Given the description of an element on the screen output the (x, y) to click on. 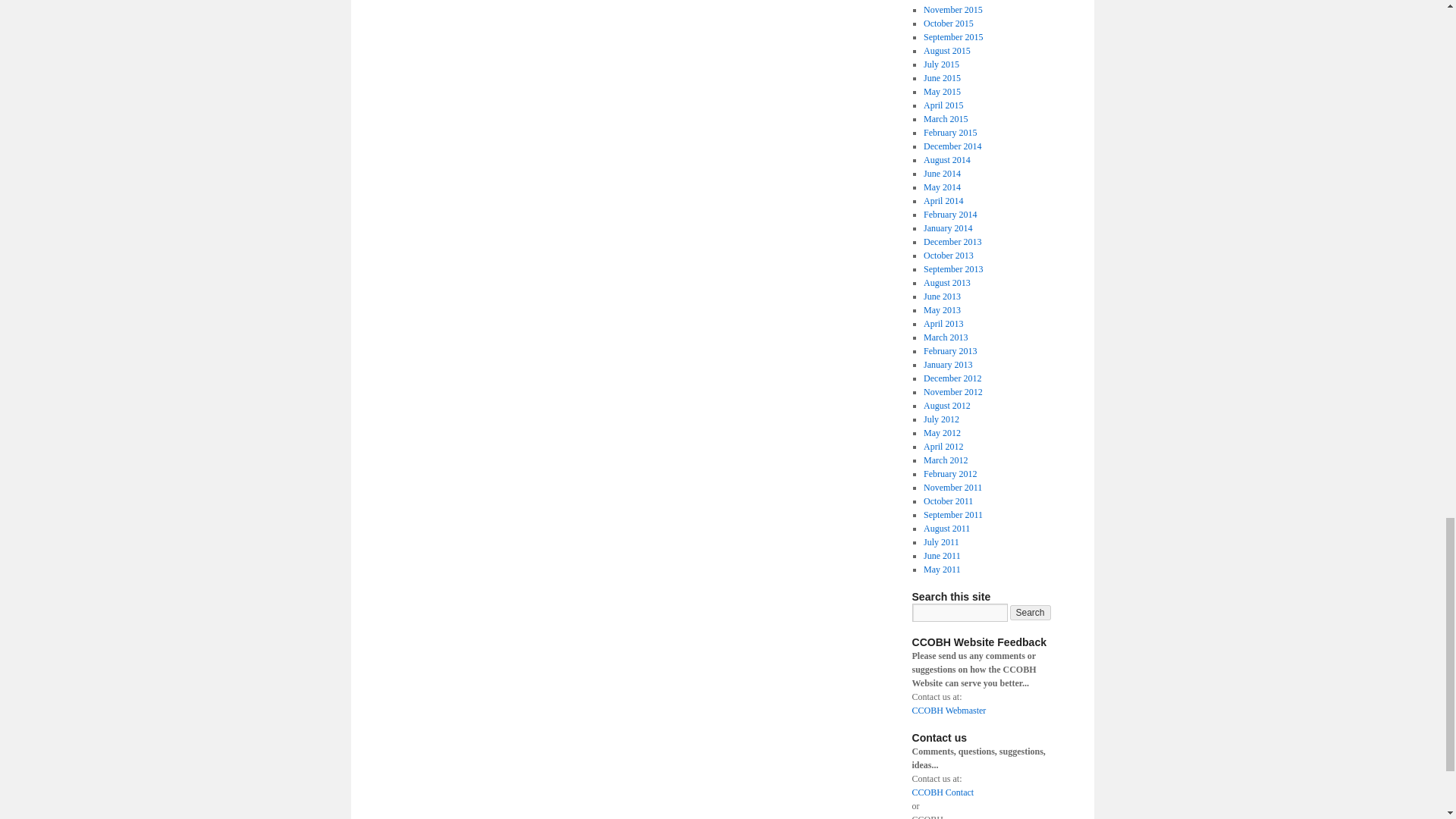
Search (1030, 612)
